Given the description of an element on the screen output the (x, y) to click on. 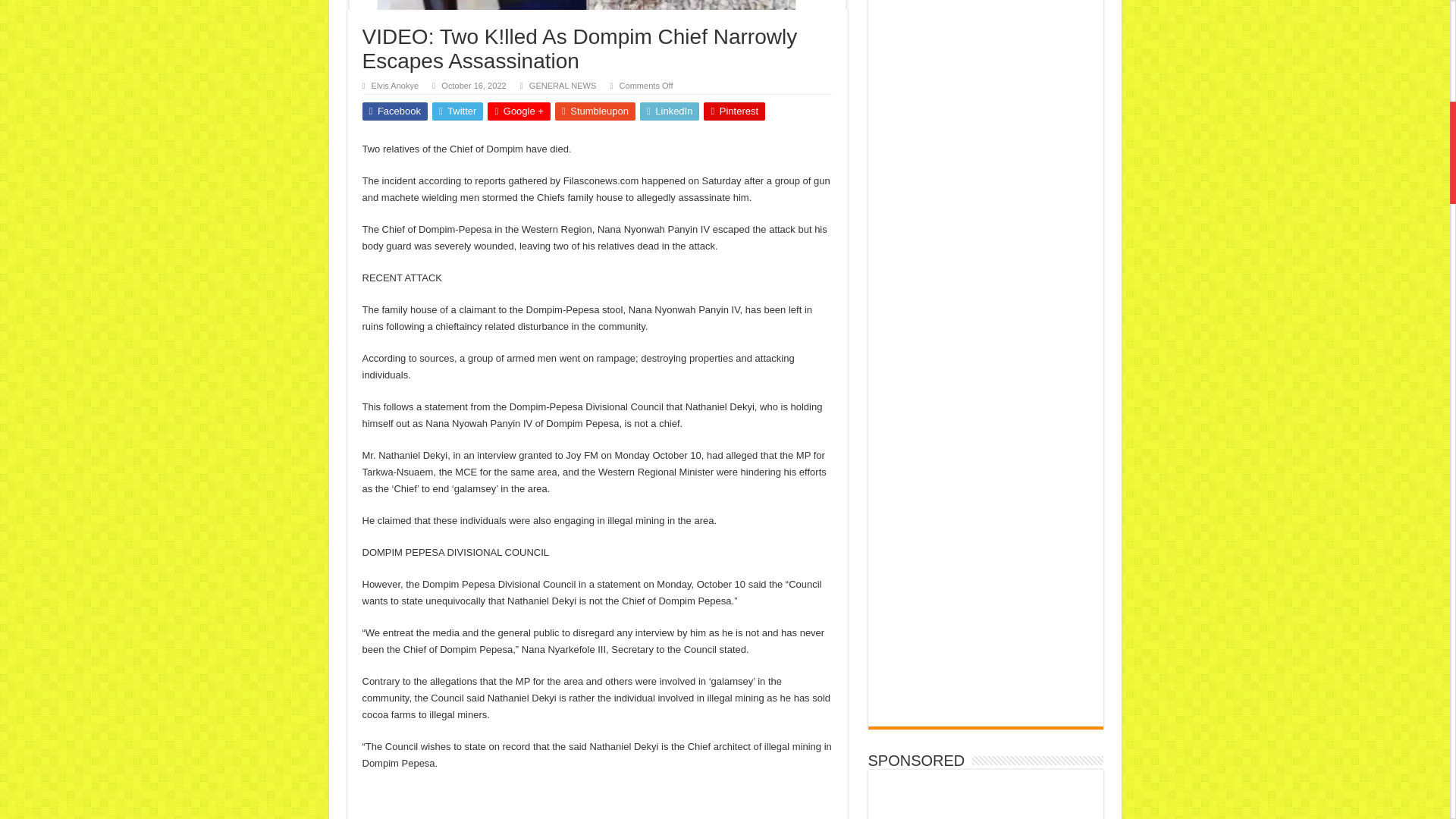
GENERAL NEWS (562, 85)
Facebook (395, 111)
Twitter (457, 111)
Scroll To Top (1427, 60)
Elvis Anokye (395, 85)
